Given the description of an element on the screen output the (x, y) to click on. 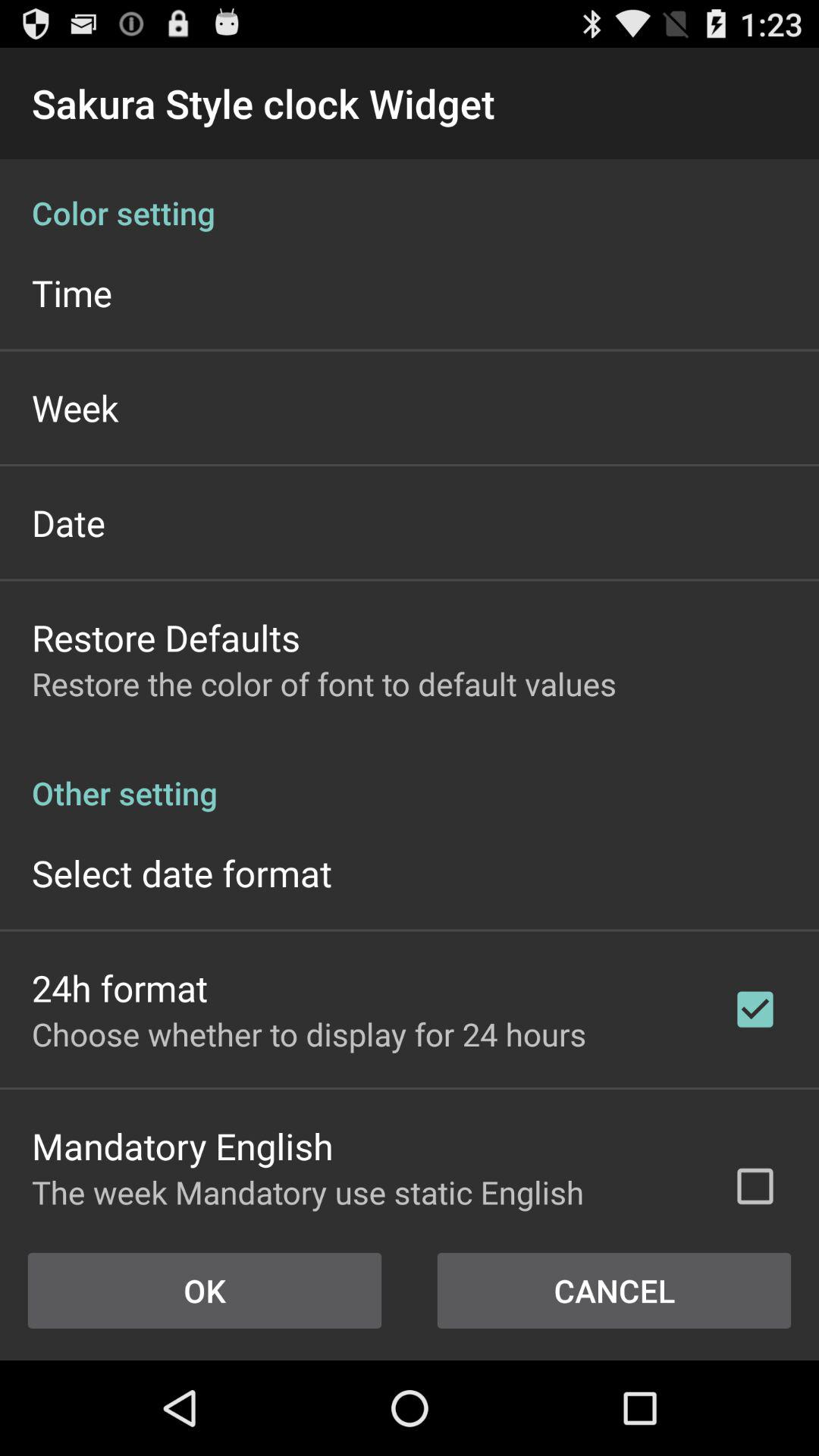
click icon above 24h format (181, 872)
